Given the description of an element on the screen output the (x, y) to click on. 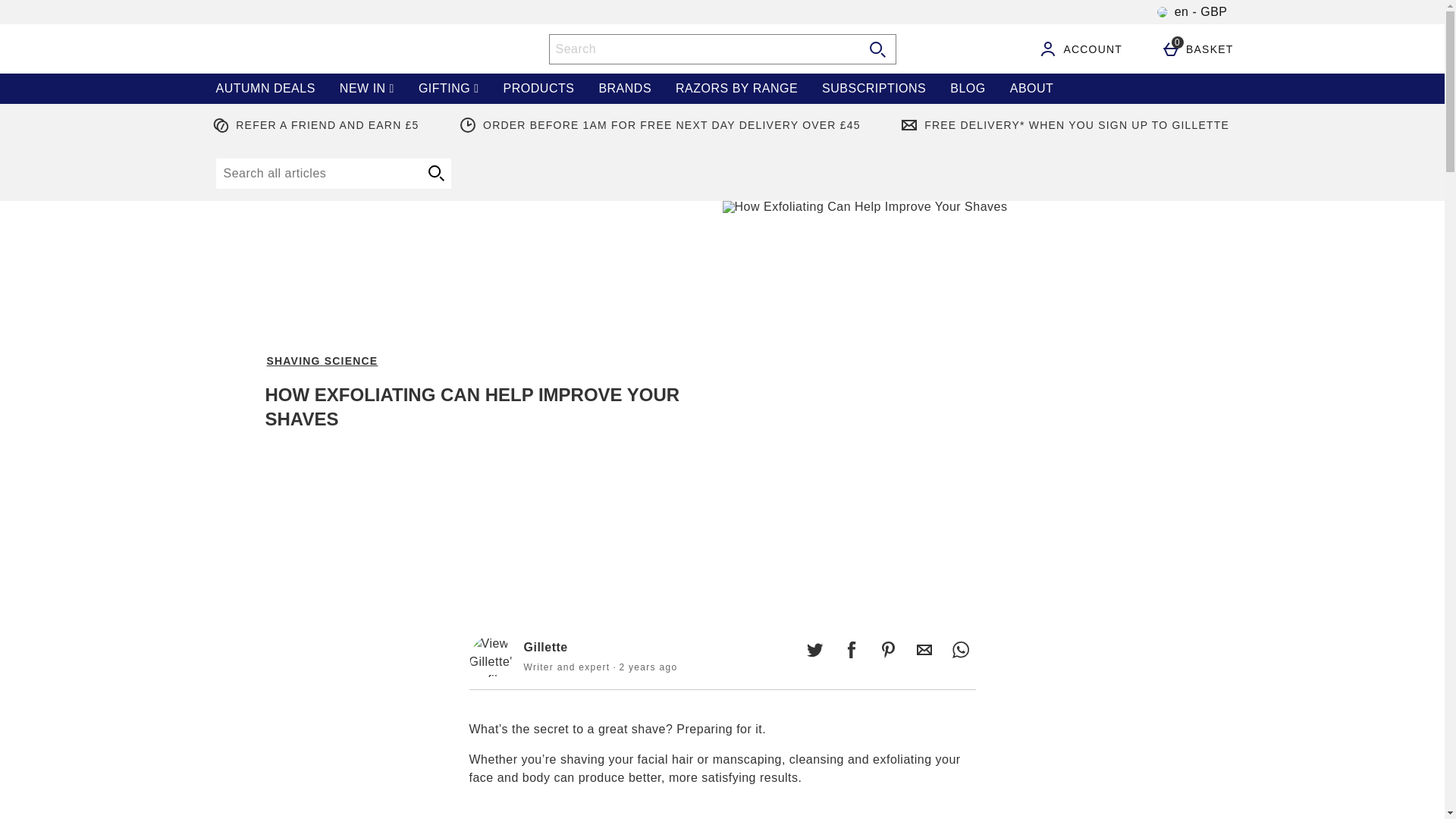
Search (703, 49)
Gillette (493, 661)
ACCOUNT (1080, 48)
BRANDS (624, 88)
en - GBP (1191, 12)
Share this by Email (923, 649)
RAZORS BY RANGE (736, 88)
Share this on Twitter (814, 649)
Share this on Facebook (850, 649)
Share this on Pinterest (887, 649)
